Given the description of an element on the screen output the (x, y) to click on. 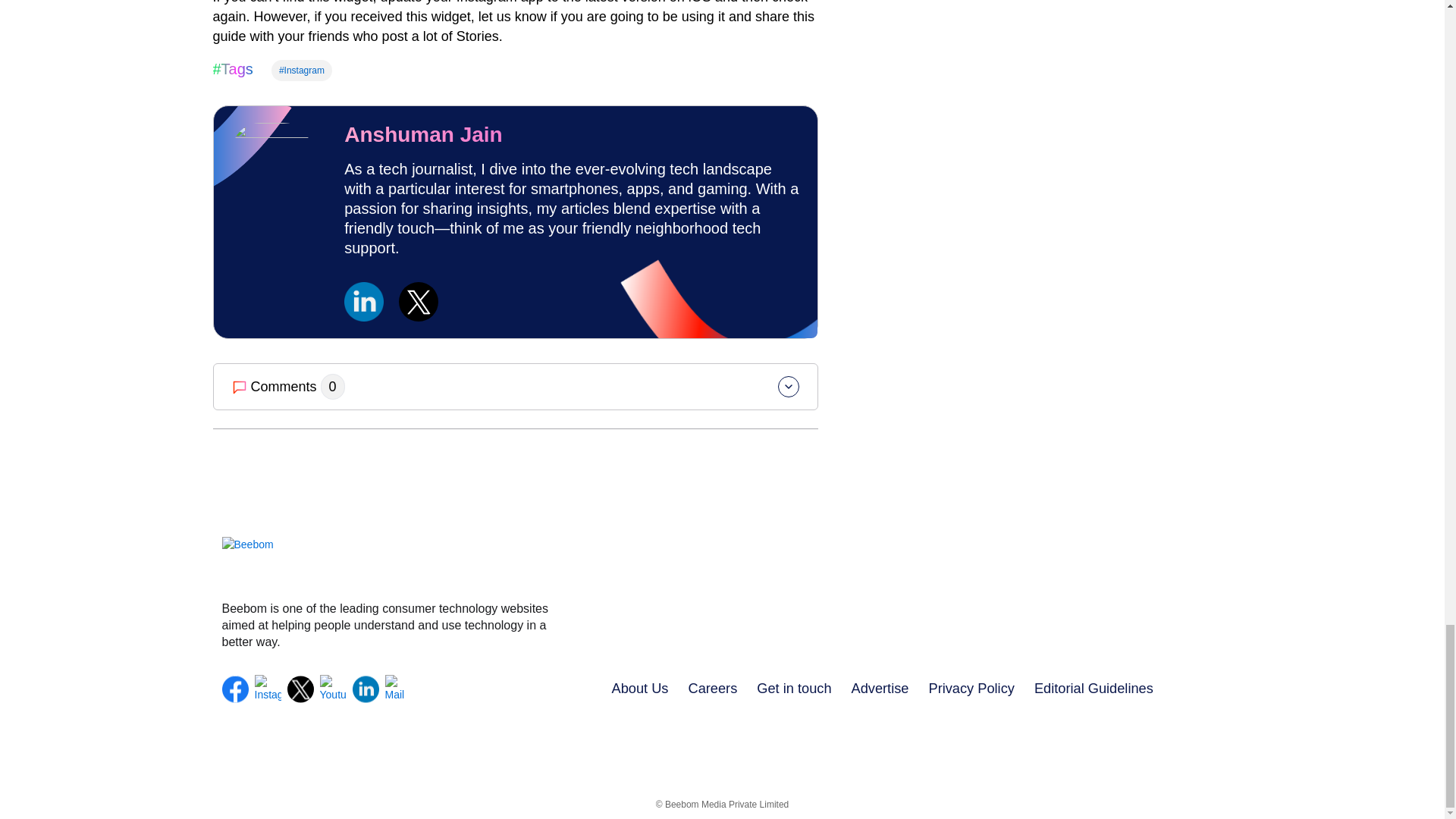
LinkedIn (365, 688)
Instagram (267, 688)
Facebook (234, 688)
YouTube (333, 688)
Mail (398, 688)
Twitter (299, 688)
Beebom (386, 561)
